Given the description of an element on the screen output the (x, y) to click on. 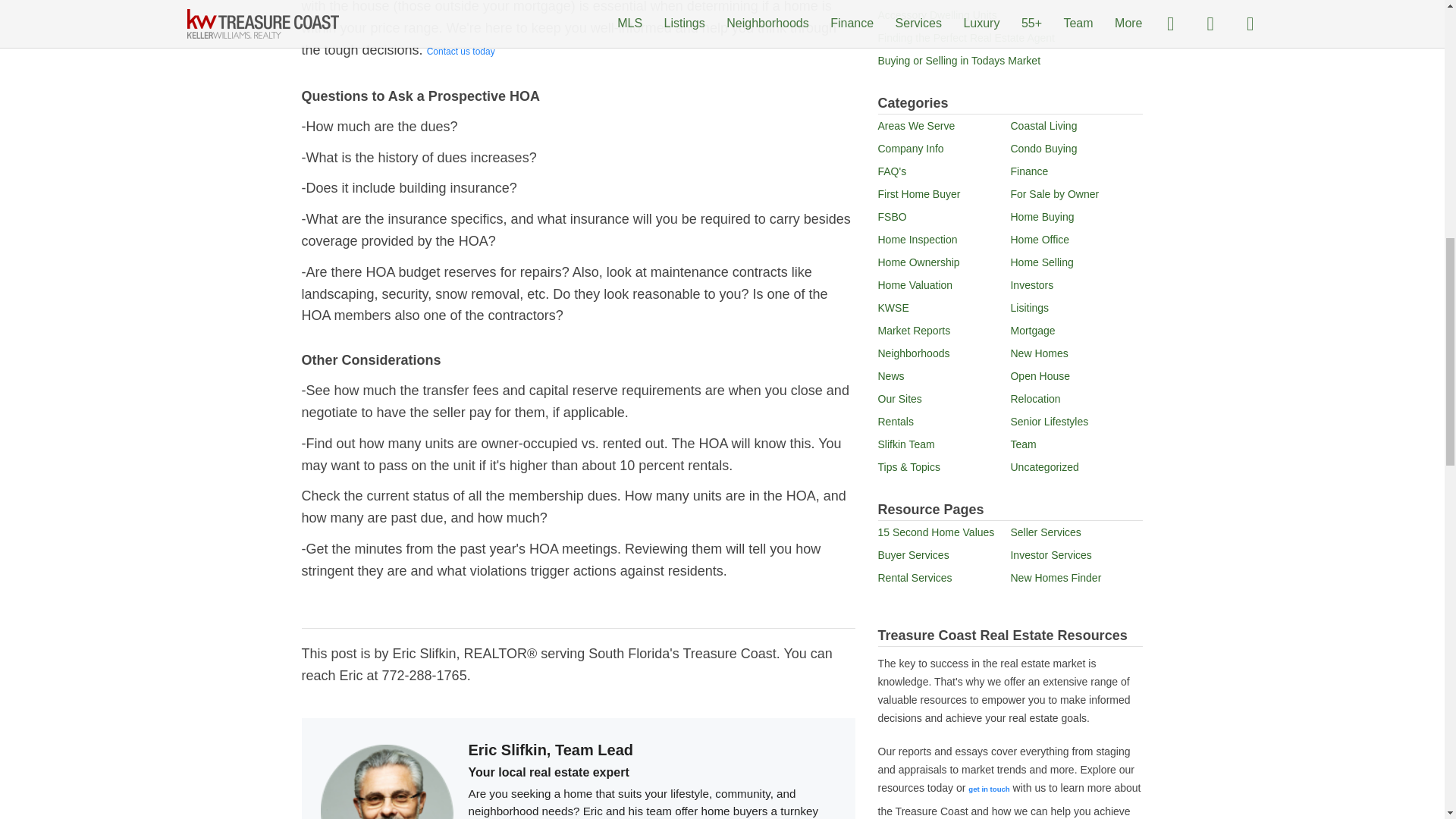
Finding the Perfect Real Estate Agent (965, 37)
Contact us today (460, 51)
Eric Slifkin (460, 51)
Accessory Dwelling Units (937, 15)
Eric Slifkin (988, 789)
